Given the description of an element on the screen output the (x, y) to click on. 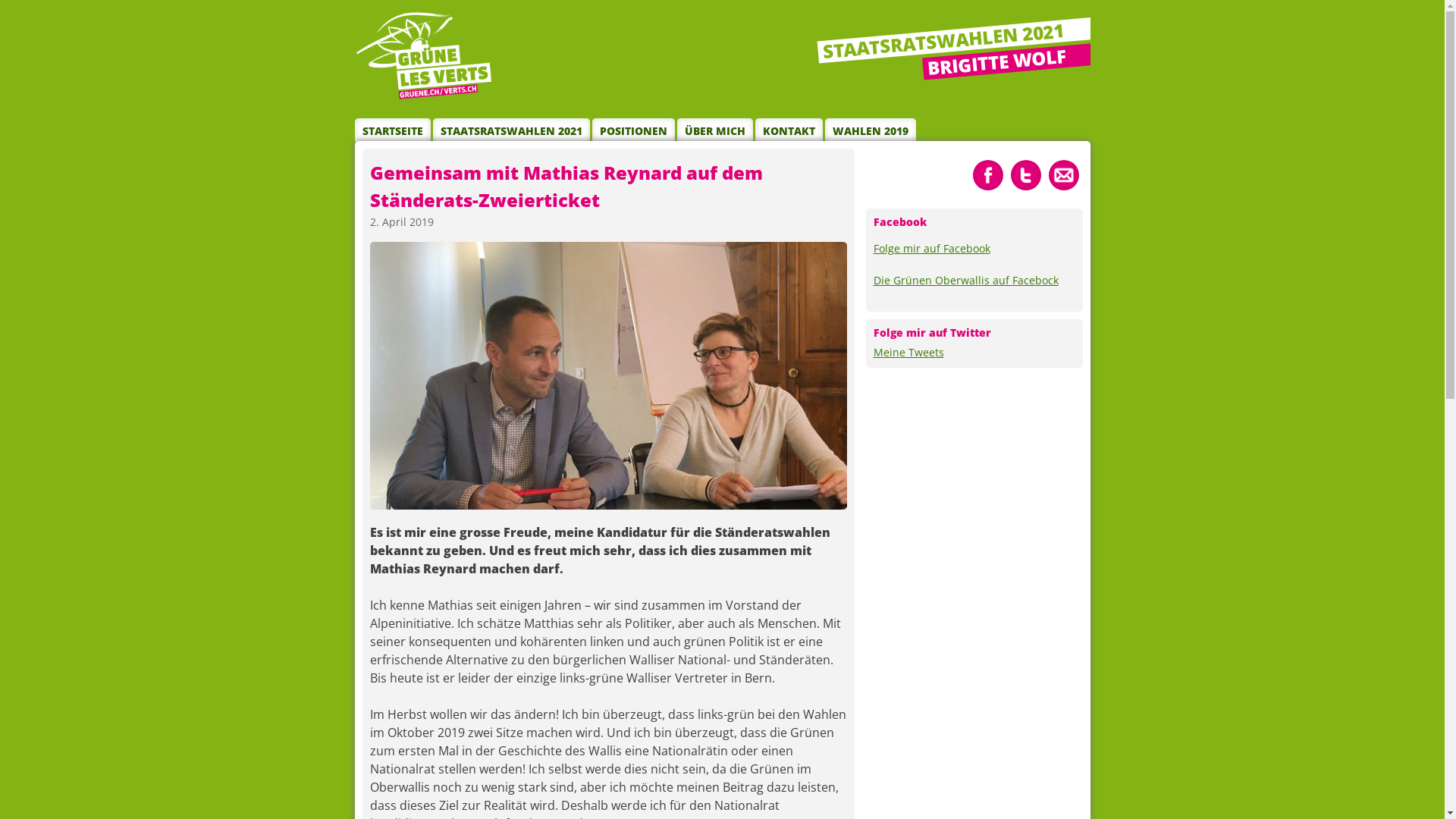
POSITIONEN Element type: text (632, 130)
Meine Tweets Element type: text (908, 351)
STARTSEITE Element type: text (392, 130)
STAATSRATSWAHLEN 2021 Element type: text (510, 130)
WAHLEN 2019 Element type: text (870, 130)
Besuchen Sie uns auf Facebook Element type: text (987, 174)
KONTAKT Element type: text (788, 130)
Sende diese Seite per Email. Element type: text (1063, 174)
Folge mir auf Facebook Element type: text (931, 248)
Besuchen Sie uns auf Twitter Element type: text (1025, 174)
